Given the description of an element on the screen output the (x, y) to click on. 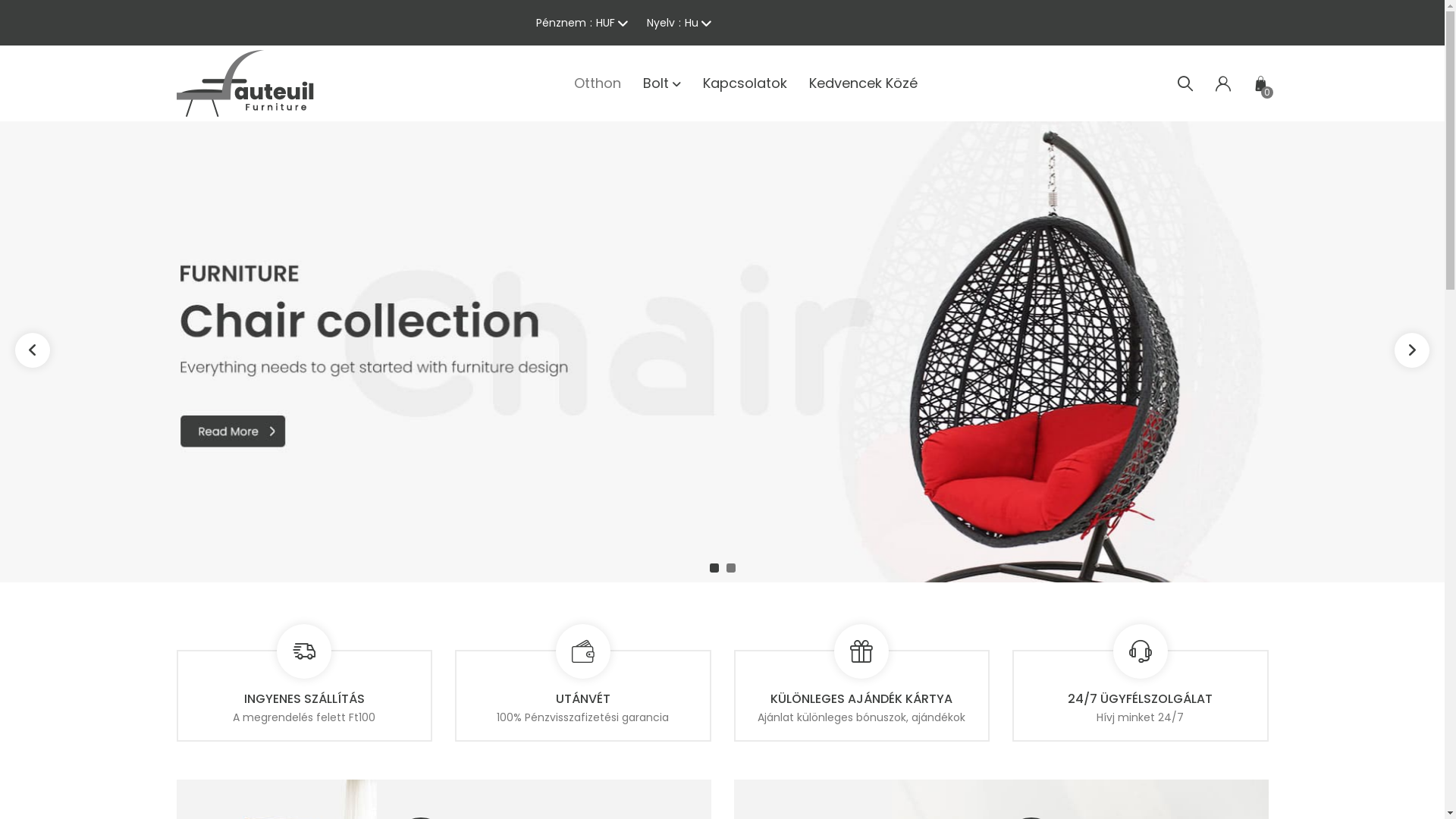
Bolt Element type: text (661, 83)
0 Element type: text (1259, 83)
Kapcsolatok Element type: text (744, 83)
Nyelv
Hu Element type: text (678, 22)
Otthon Element type: text (596, 83)
